Given the description of an element on the screen output the (x, y) to click on. 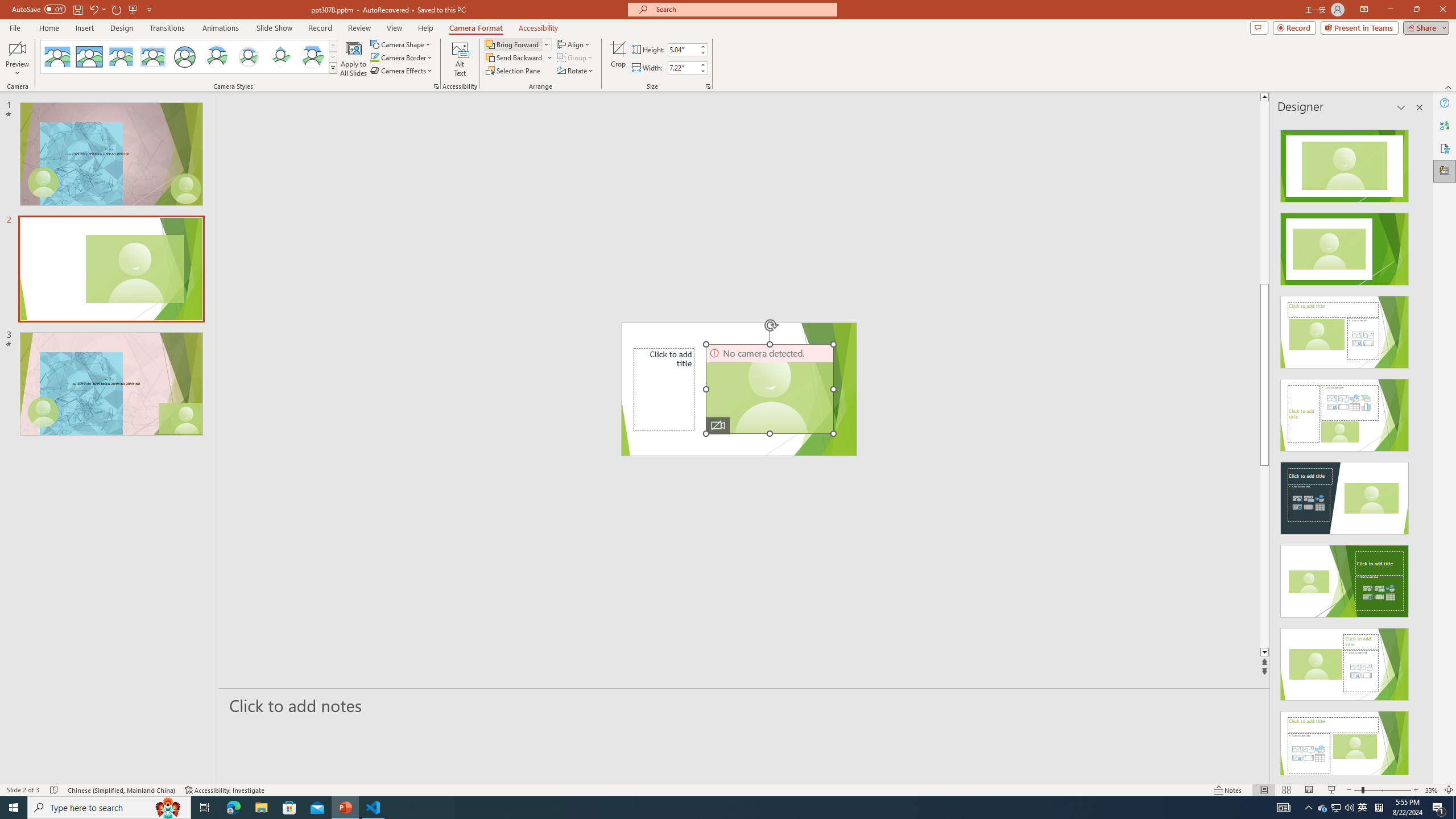
Camera Format (475, 28)
Align (574, 44)
Size and Position... (707, 85)
Cameo Width (682, 67)
No Style (57, 56)
